Given the description of an element on the screen output the (x, y) to click on. 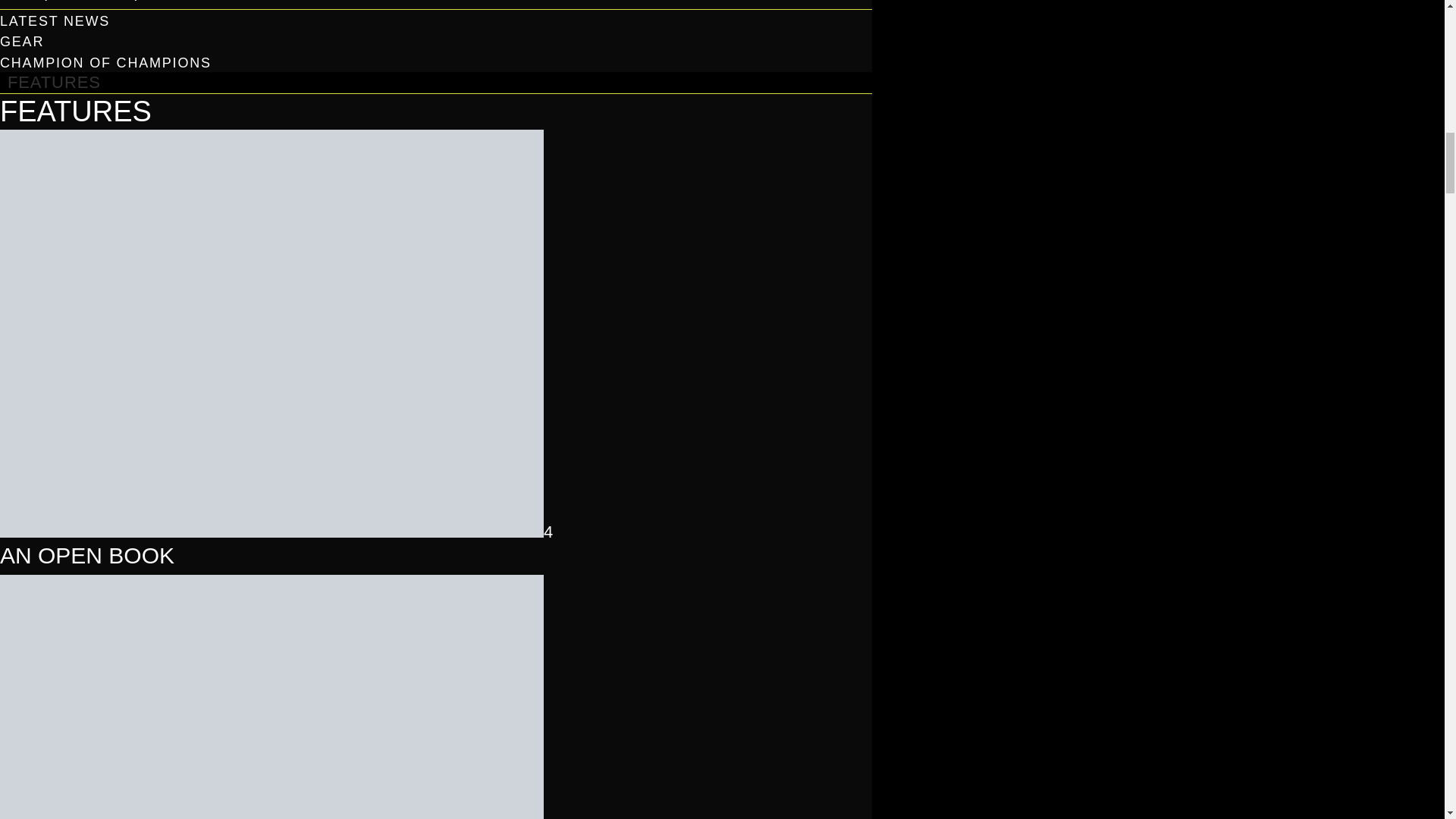
LATEST NEWS (55, 20)
GEAR (21, 41)
CHAMPION OF CHAMPIONS (105, 61)
FEATURES (53, 85)
AN OPEN BOOK (87, 554)
